Given the description of an element on the screen output the (x, y) to click on. 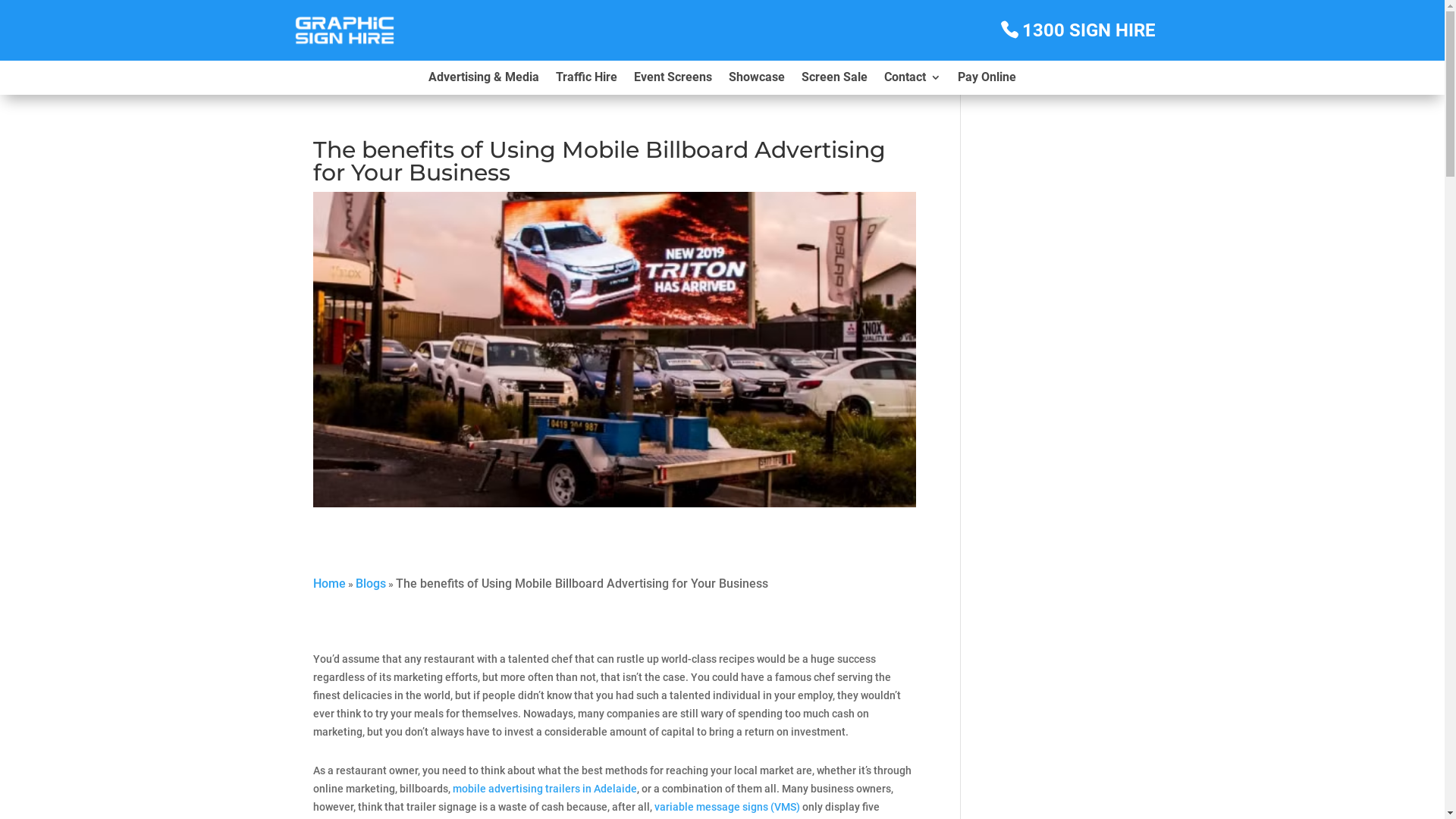
Advertising & Media Element type: text (483, 80)
Pay Online Element type: text (986, 80)
Event Screens Element type: text (672, 80)
variable message signs (VMS) Element type: text (726, 806)
Screen Sale Element type: text (834, 80)
Traffic Hire Element type: text (586, 80)
mobile advertising trailers in Adelaide Element type: text (543, 788)
Showcase Element type: text (756, 80)
Contact Element type: text (912, 80)
Home Element type: text (328, 583)
Blogs Element type: text (369, 583)
0. GSH Logo 2019 white full Element type: hover (344, 30)
